Given the description of an element on the screen output the (x, y) to click on. 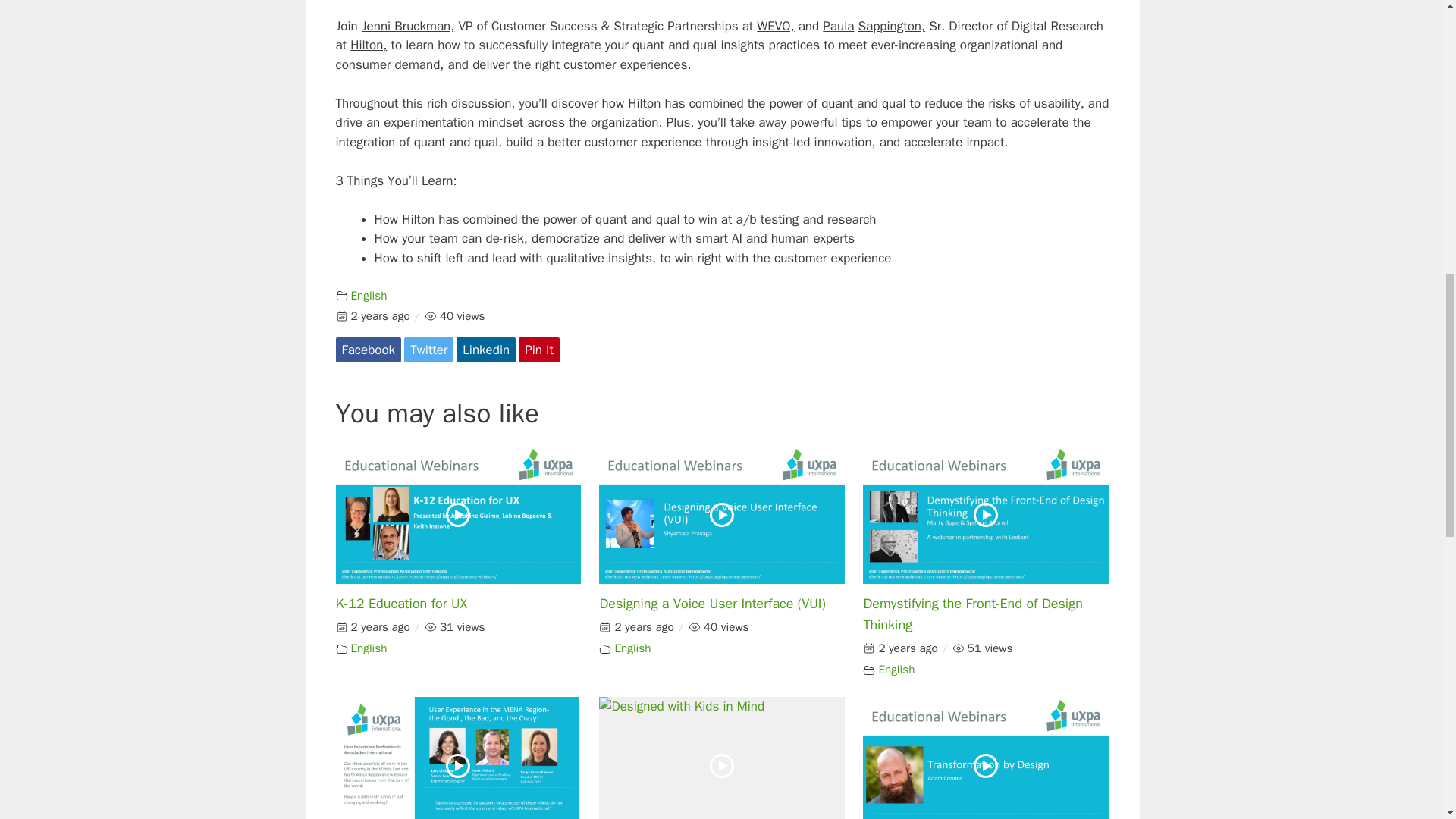
Scroll back to top (1406, 720)
